Given the description of an element on the screen output the (x, y) to click on. 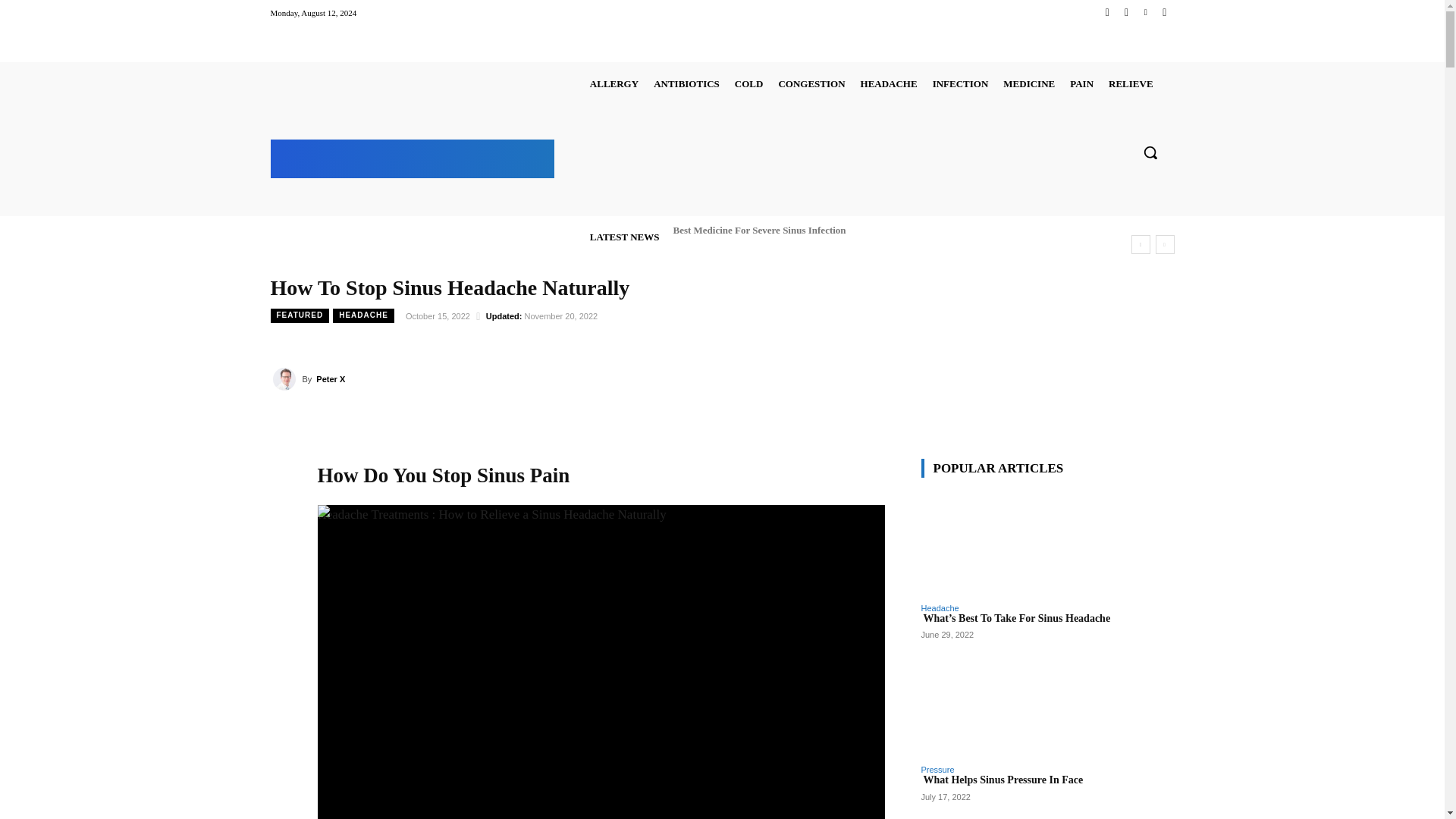
HEALTHY SINUS (412, 156)
Facebook (1106, 12)
ANTIBIOTICS (686, 83)
ALLERGY (614, 83)
